Given the description of an element on the screen output the (x, y) to click on. 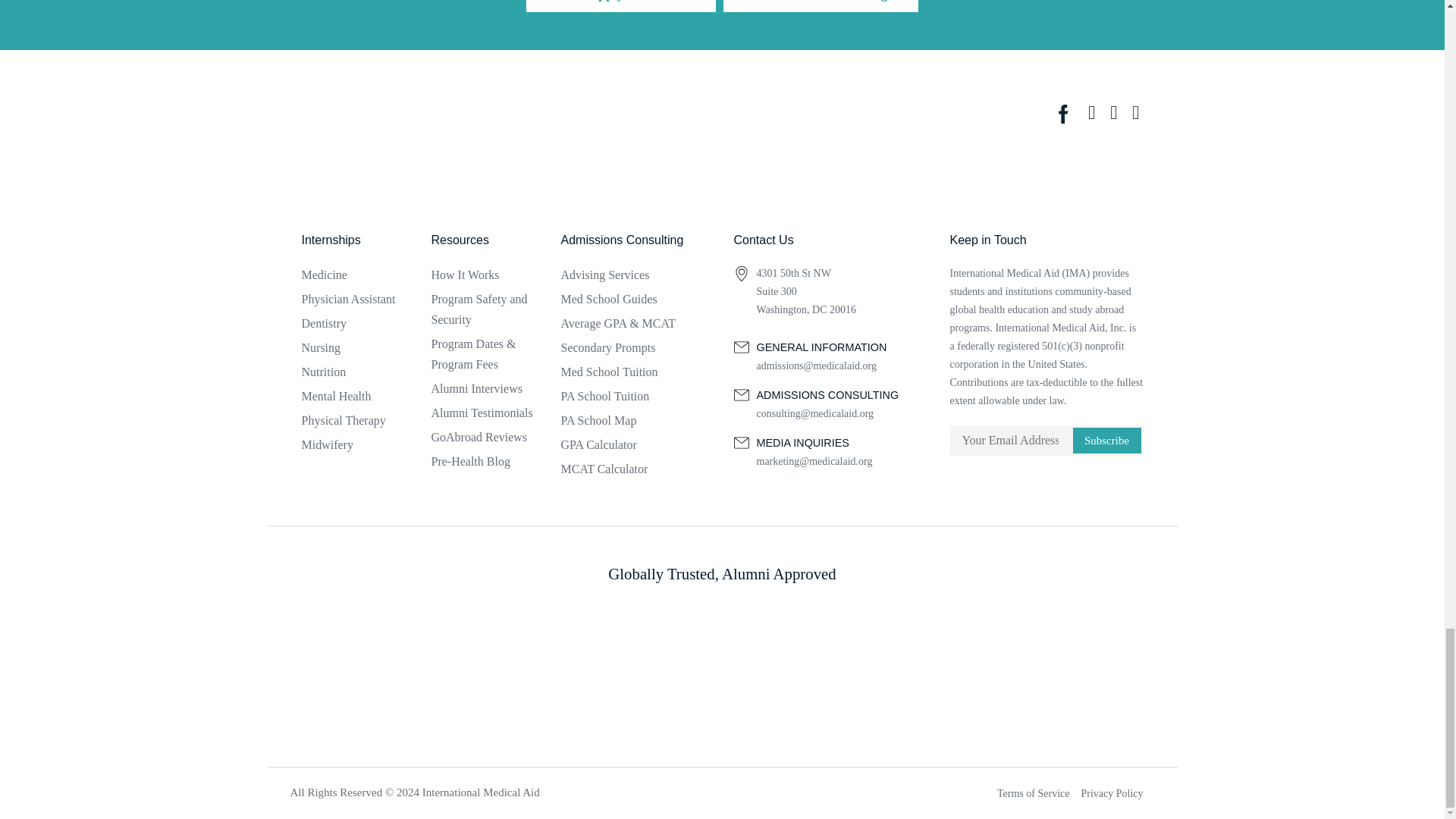
Subscribe (1105, 440)
